Given the description of an element on the screen output the (x, y) to click on. 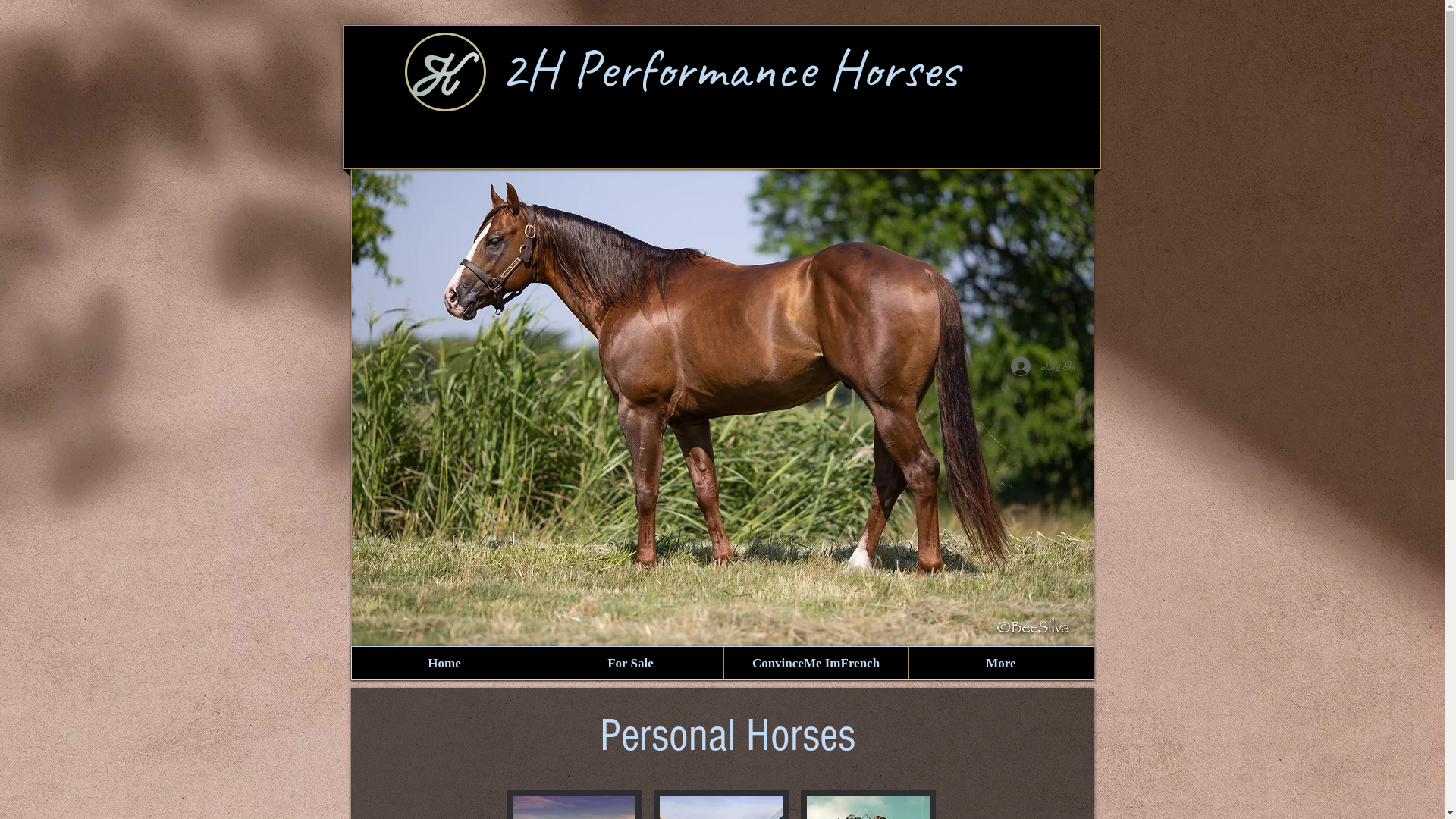
Home Element type: text (444, 662)
For Sale Element type: text (629, 662)
k_.png Element type: hover (444, 72)
ConvinceMe ImFrench Element type: text (815, 662)
Log In Element type: text (1042, 365)
